Given the description of an element on the screen output the (x, y) to click on. 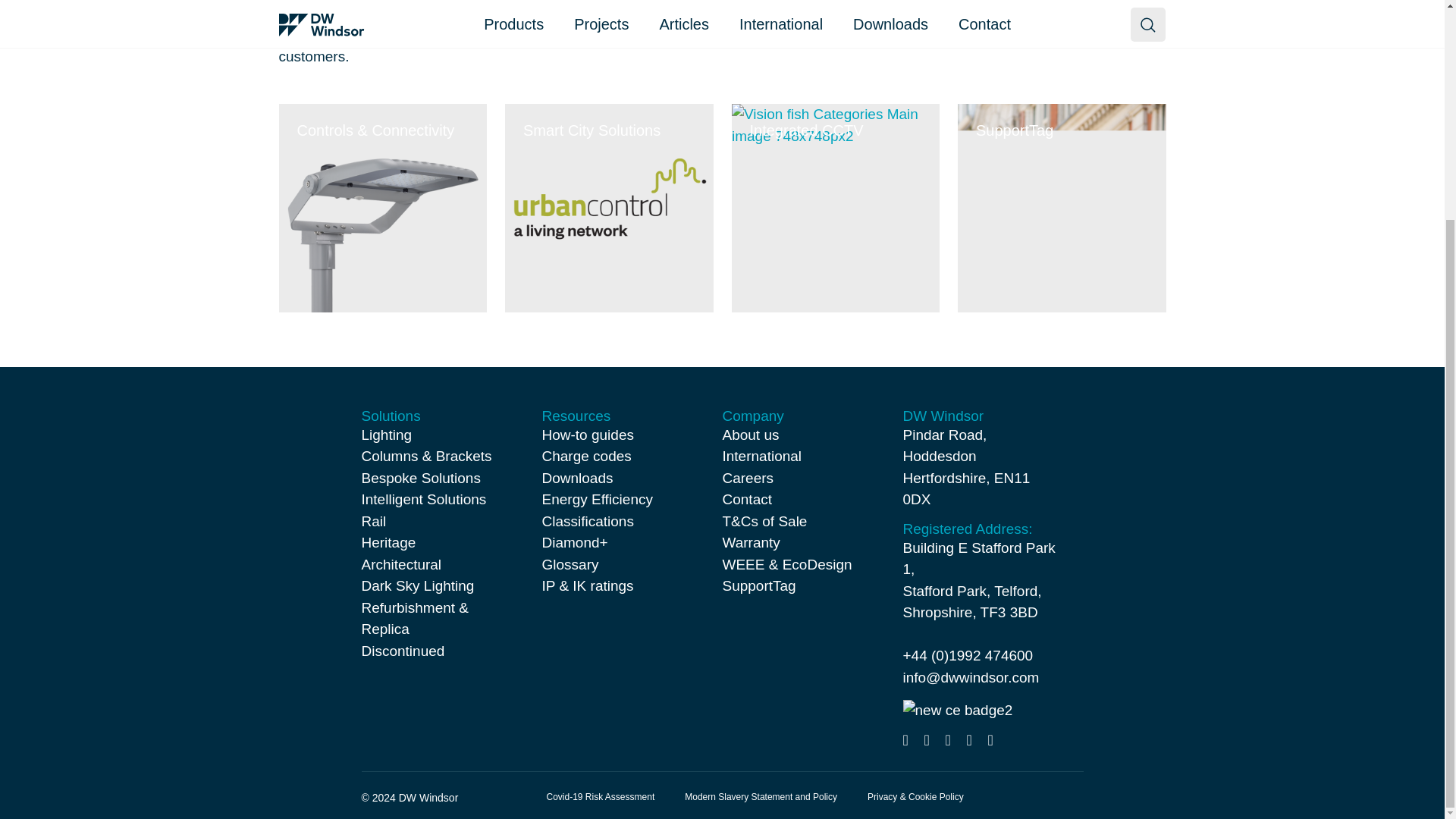
Heritage (387, 542)
Lighting (386, 434)
About us (750, 434)
Rail (373, 521)
Contact (746, 498)
Integrated CCTV (834, 208)
Intelligent Solutions (423, 498)
Smart City Solutions (609, 208)
Architectural (401, 564)
Dark Sky Lighting (417, 585)
Glossary (569, 564)
How-to guides (587, 434)
Charge codes (585, 455)
Discontinued (402, 650)
Energy Efficiency Classifications (596, 510)
